Given the description of an element on the screen output the (x, y) to click on. 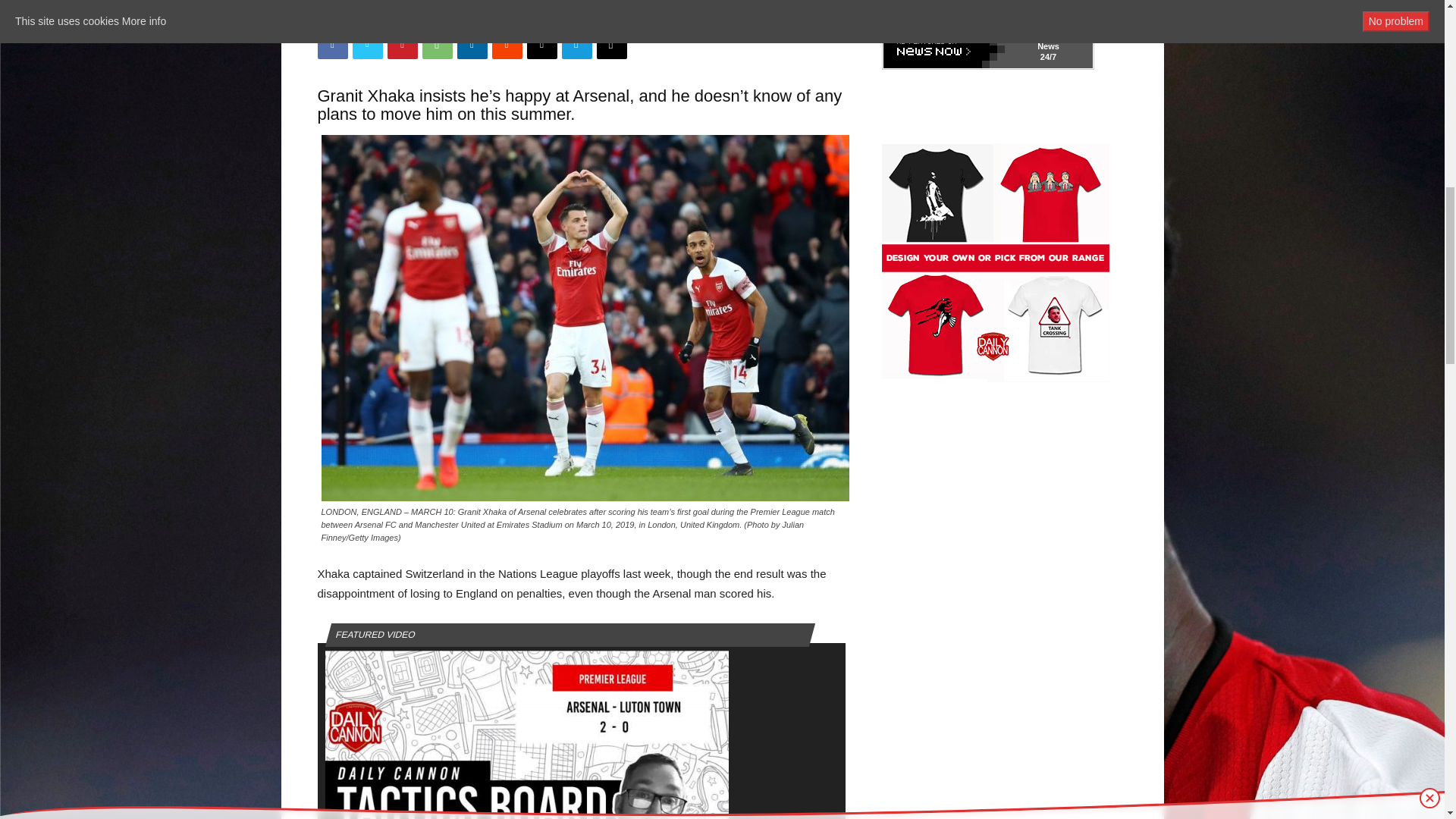
Twitter (366, 43)
Telegram (575, 43)
Pinterest (401, 43)
Copy URL (610, 43)
WhatsApp (436, 43)
ReddIt (506, 43)
Email (540, 43)
Facebook (332, 43)
Linkedin (471, 43)
